Given the description of an element on the screen output the (x, y) to click on. 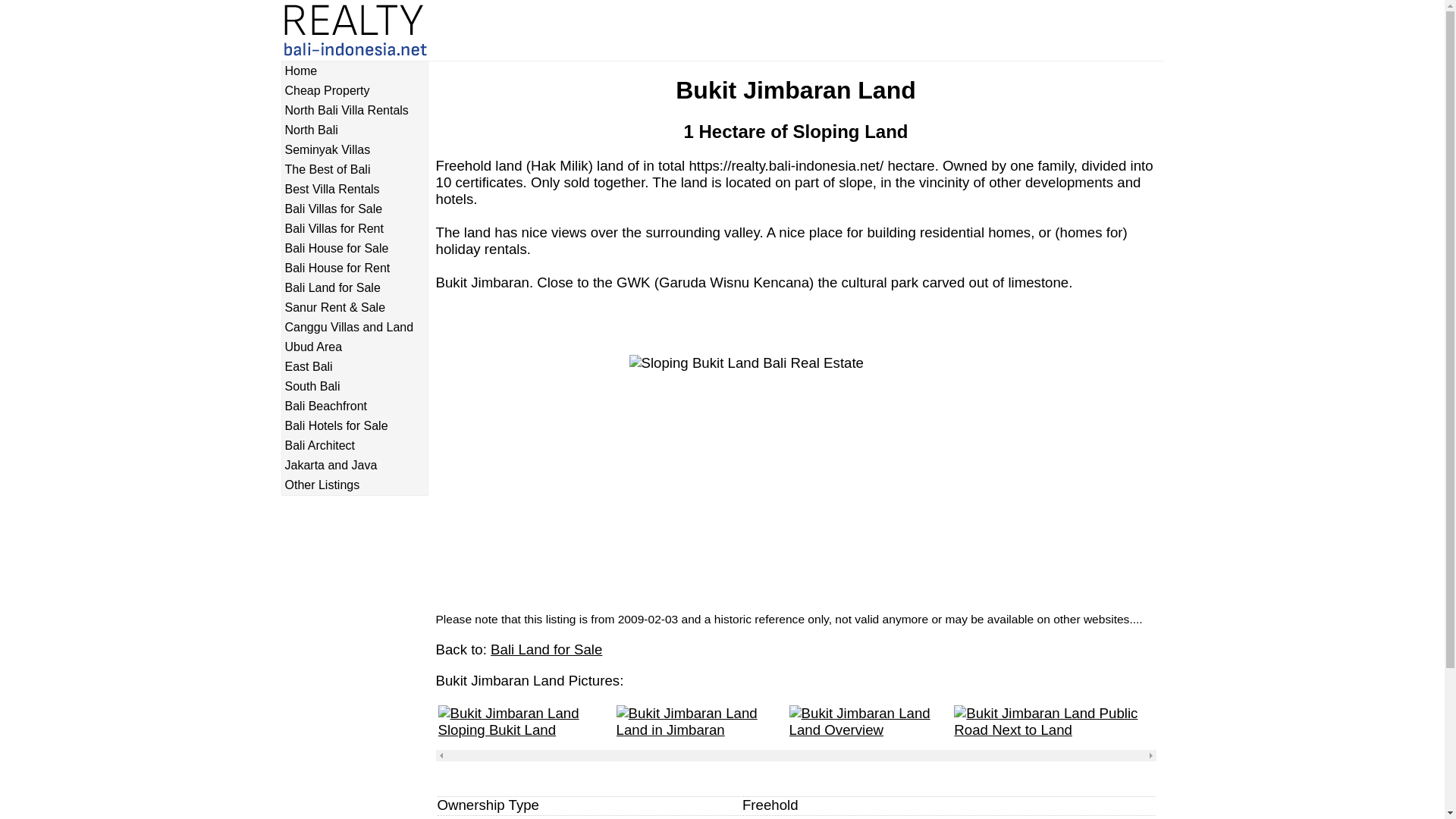
Cheap Property (354, 90)
Bali House for Sale (354, 248)
The Best of Bali (354, 169)
Best Villa Rentals (354, 189)
Bali Architect (354, 445)
Bali Land for Sale (354, 287)
Canggu Villas and Land (354, 327)
Bali Hotels for Sale (354, 426)
East Bali (354, 366)
Bali Beachfront (354, 406)
Jakarta and Java (354, 465)
Ubud Area (354, 346)
Bali Villas for Rent (354, 228)
Bali Villas for Sale (354, 209)
South Bali (354, 386)
